Given the description of an element on the screen output the (x, y) to click on. 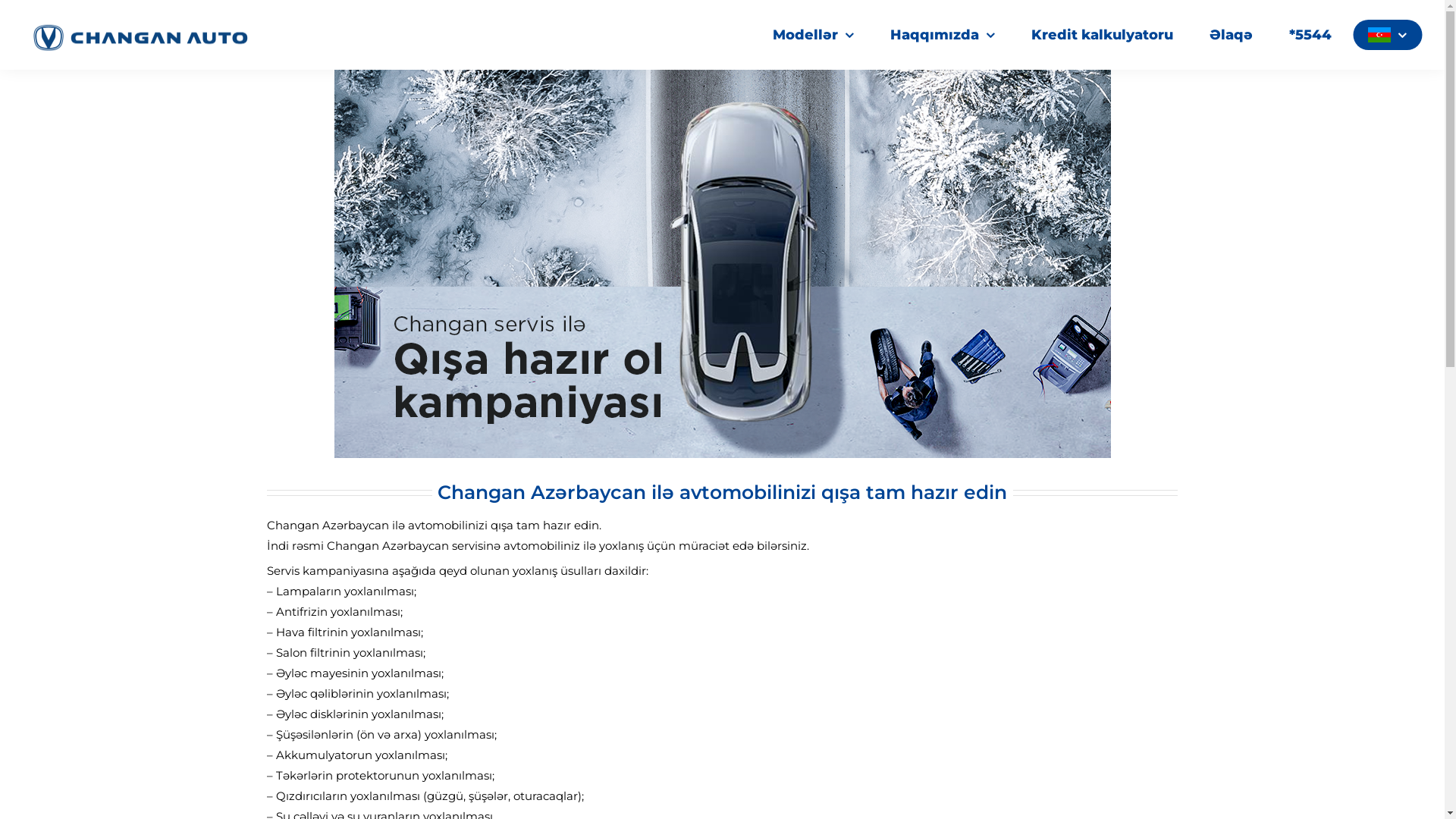
*5544 Element type: text (1310, 34)
changan-servis Element type: hover (721, 263)
Kredit kalkulyatoru Element type: text (1102, 34)
